Given the description of an element on the screen output the (x, y) to click on. 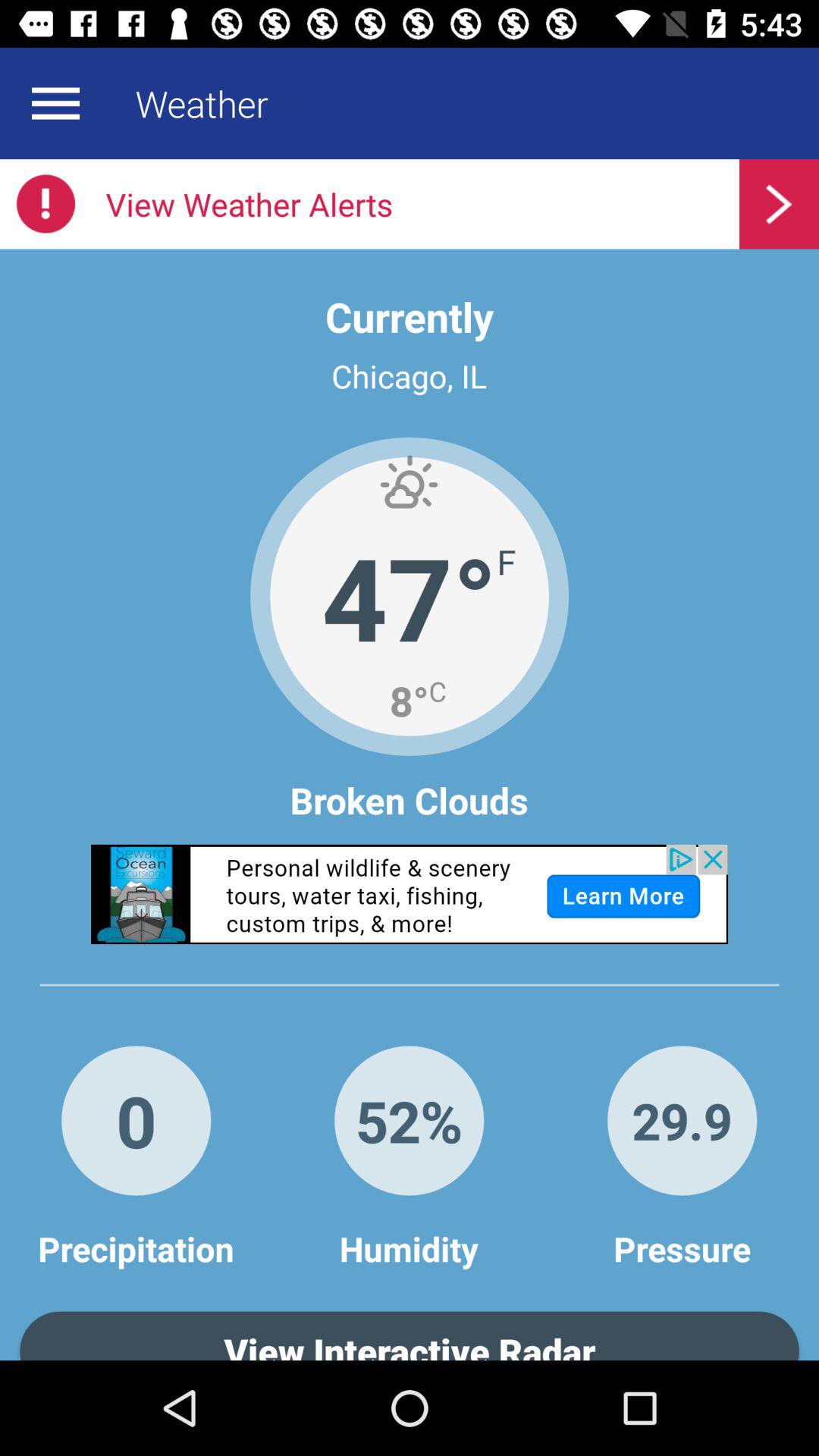
advertisement (409, 894)
